Given the description of an element on the screen output the (x, y) to click on. 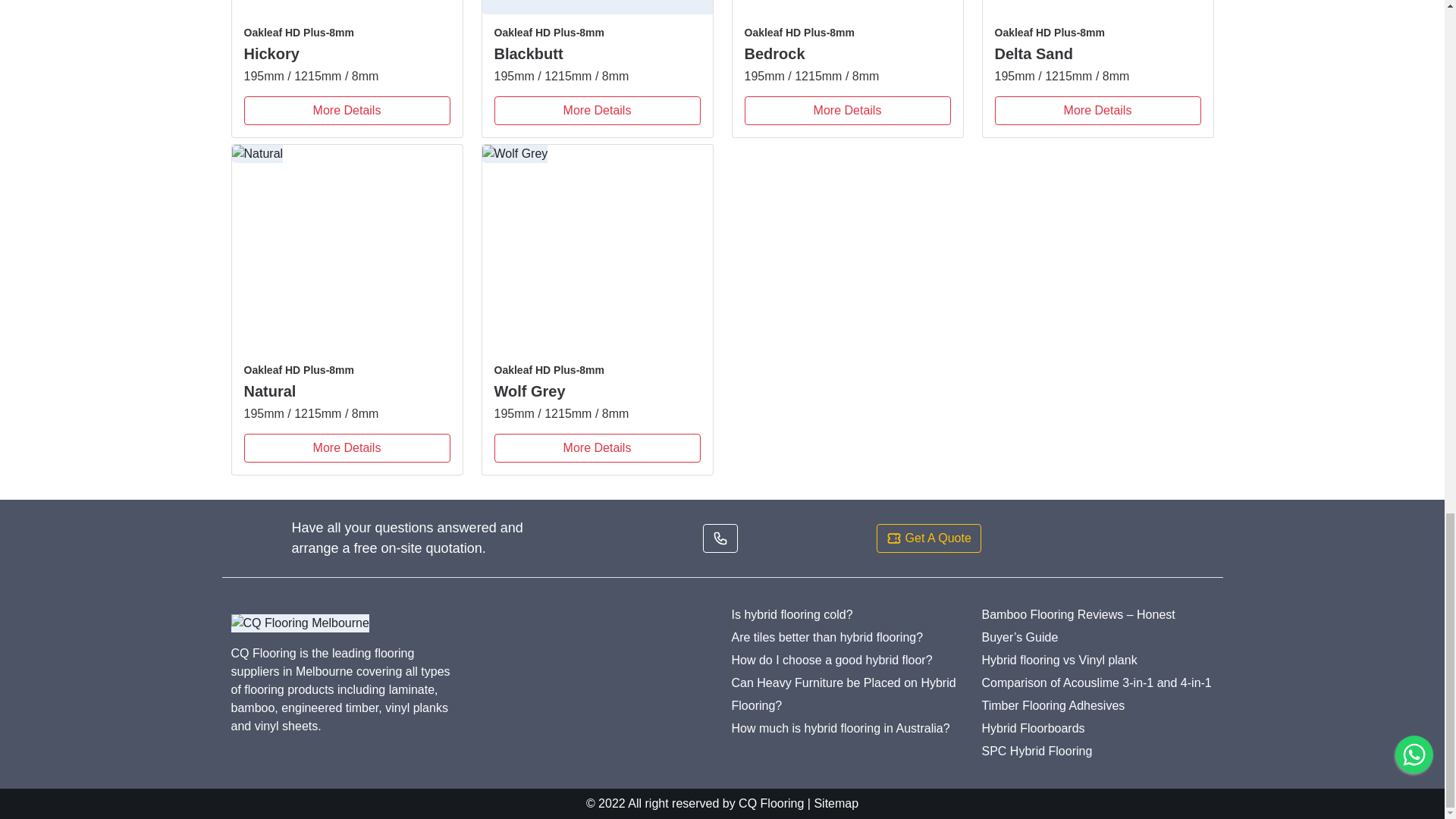
More Details (847, 110)
More Details (346, 110)
More Details (597, 110)
More Details (346, 448)
More Details (1097, 110)
